Given the description of an element on the screen output the (x, y) to click on. 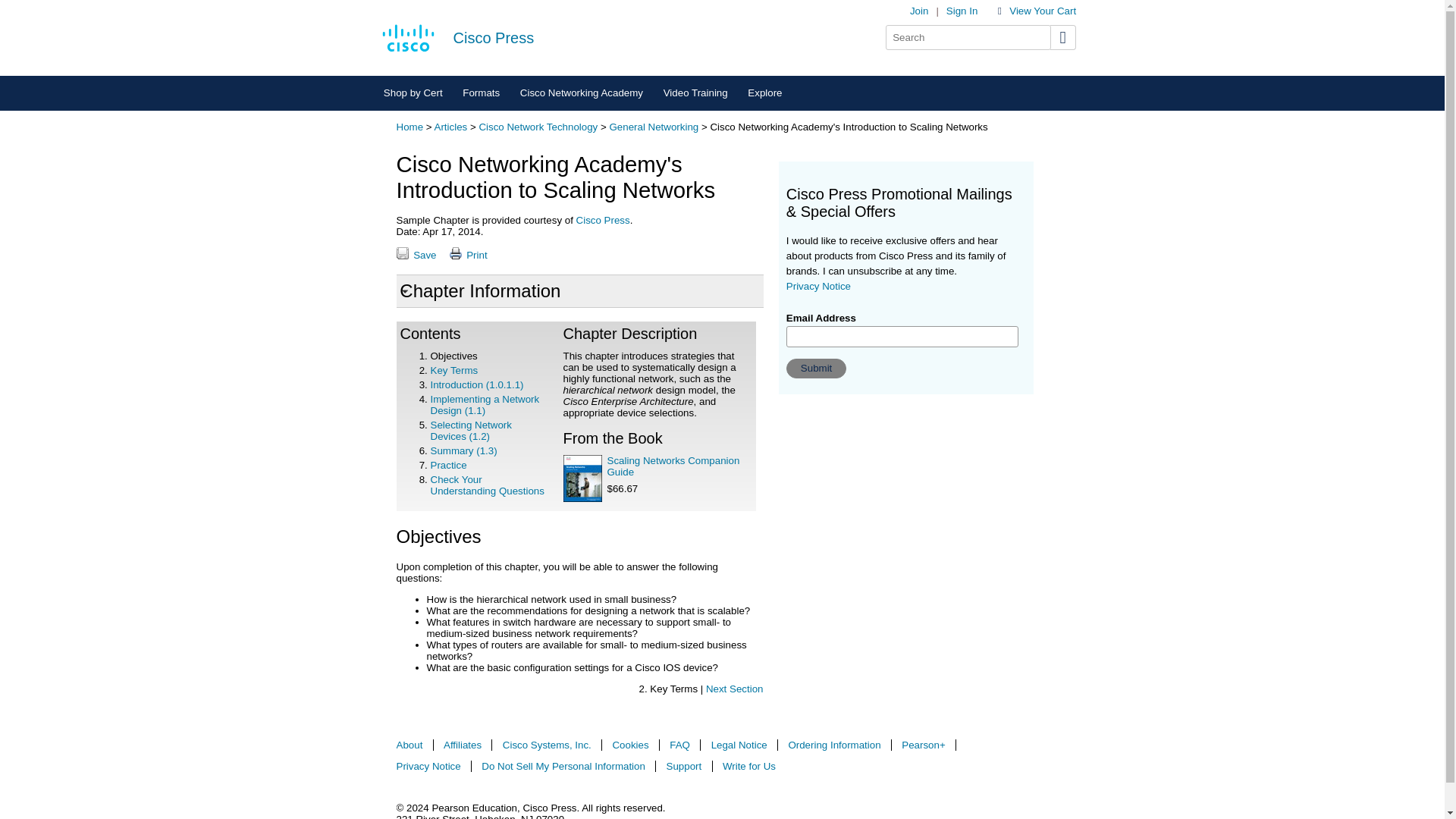
Cisco Networking Academy (580, 92)
View Your Cart (1042, 10)
Join (919, 10)
Formats (481, 92)
Cisco.com (408, 37)
Sign In (962, 10)
Shop by Cert (411, 92)
Submit (815, 368)
Explore (765, 92)
Video Training (695, 92)
